Given the description of an element on the screen output the (x, y) to click on. 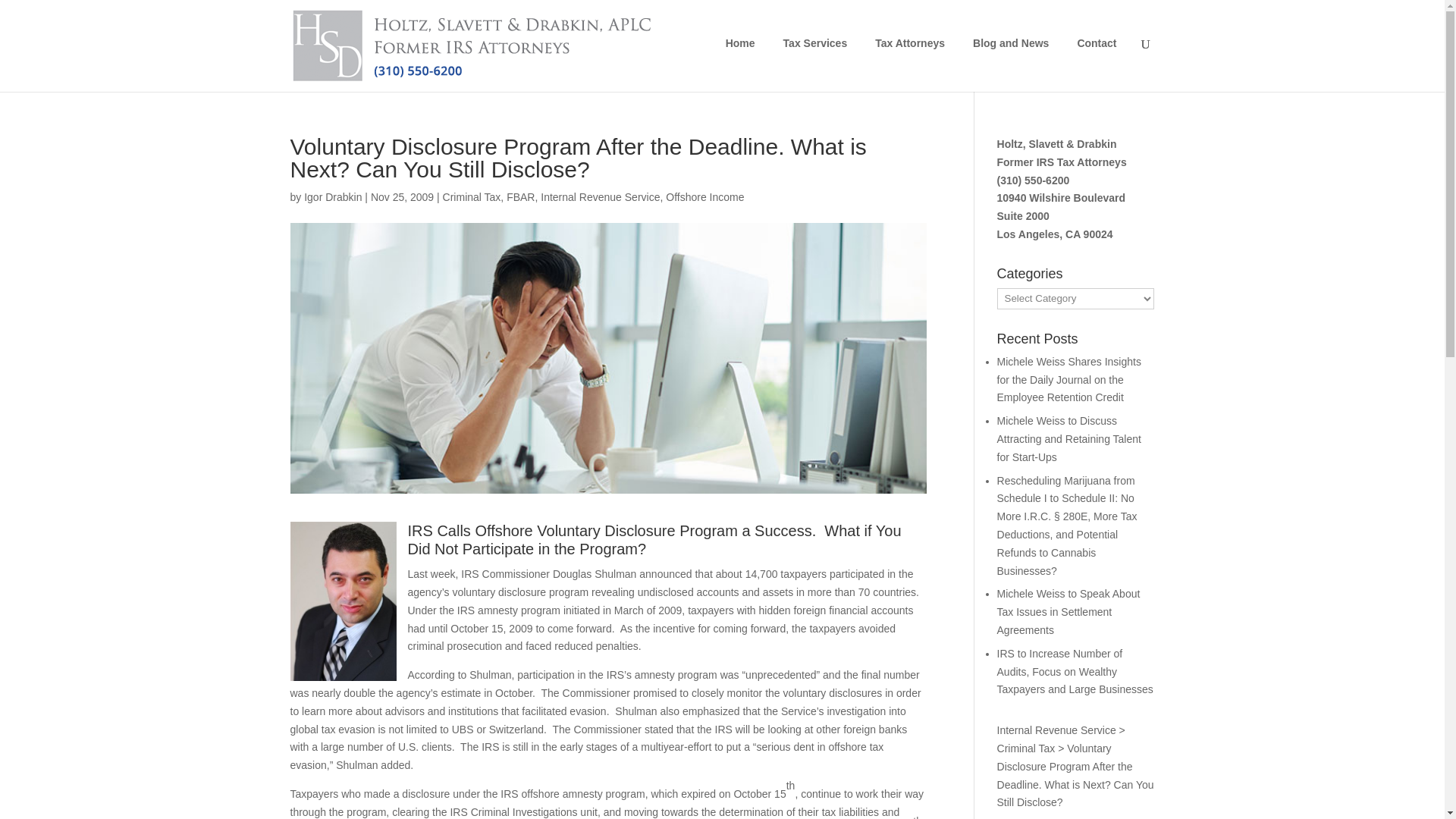
Blog and News (1011, 55)
Tax Attorneys (909, 55)
Go to the Criminal Tax category archives. (1026, 748)
Tax Services (816, 55)
Go to the Internal Revenue Service category archives. (1056, 729)
Posts by Igor Drabkin (332, 196)
Home (739, 55)
